Given the description of an element on the screen output the (x, y) to click on. 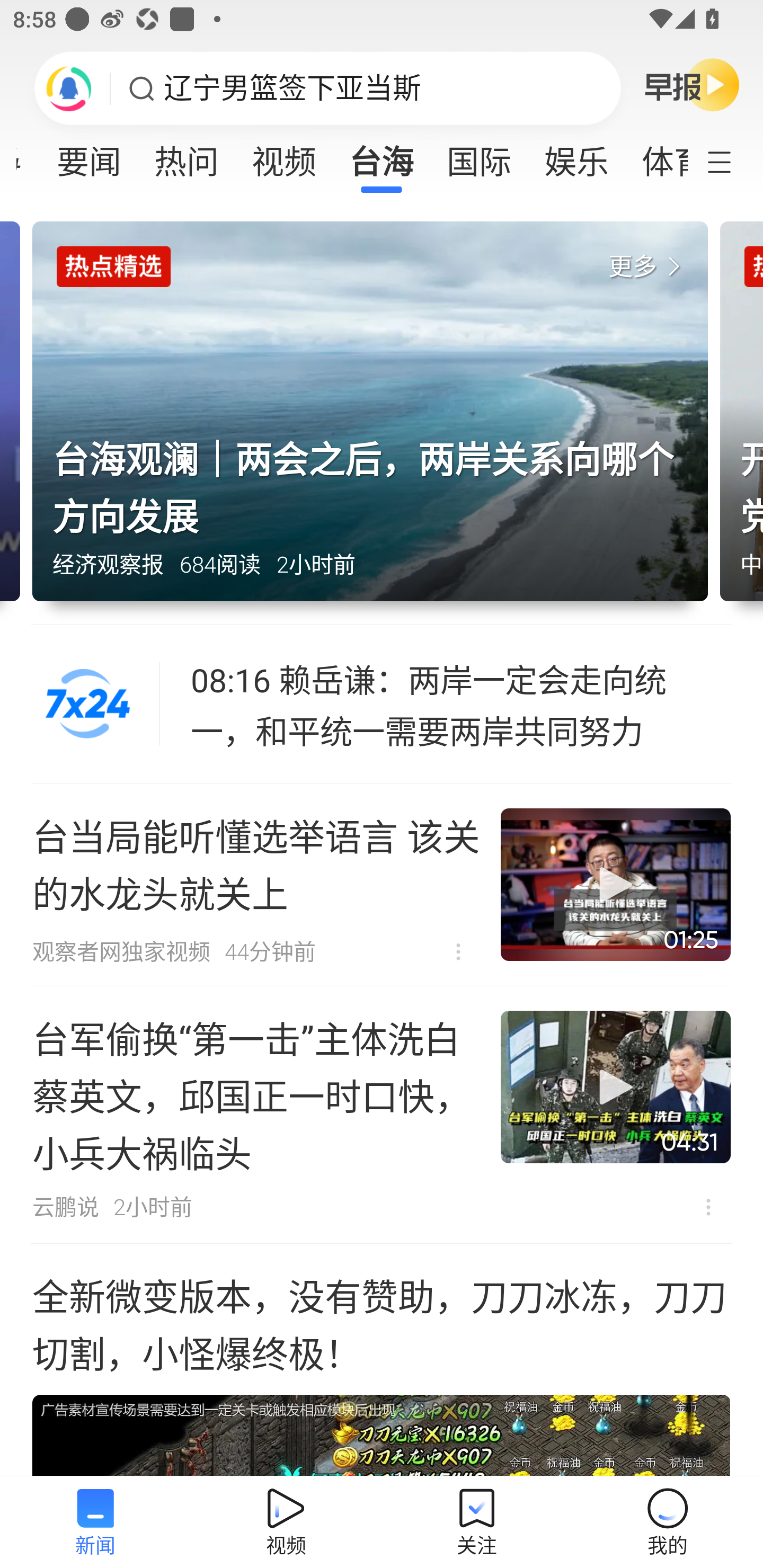
早晚报 (691, 84)
刷新 (68, 88)
辽宁男篮签下亚当斯 (292, 88)
要闻 (89, 155)
热问 (186, 155)
视频 (283, 155)
台海 (381, 155)
国际 (478, 155)
娱乐 (575, 155)
 定制频道 (731, 160)
更多  台海观澜｜两会之后，两岸关系向哪个方向发展 经济观察报   684阅读   2小时前 (376, 422)
更多  (648, 267)
08:16 赖岳谦：两岸一定会走向统一，和平统一需要两岸共同努力 (461, 704)
台当局能听懂选举语言 该关的水龙头就关上 观察者网独家视频 44分钟前  不感兴趣 01:25 (381, 885)
 不感兴趣 (458, 951)
 不感兴趣 (707, 1207)
全新微变版本，没有赞助，刀刀冰冻，刀刀切割，小怪爆终极！ (381, 1360)
